Given the description of an element on the screen output the (x, y) to click on. 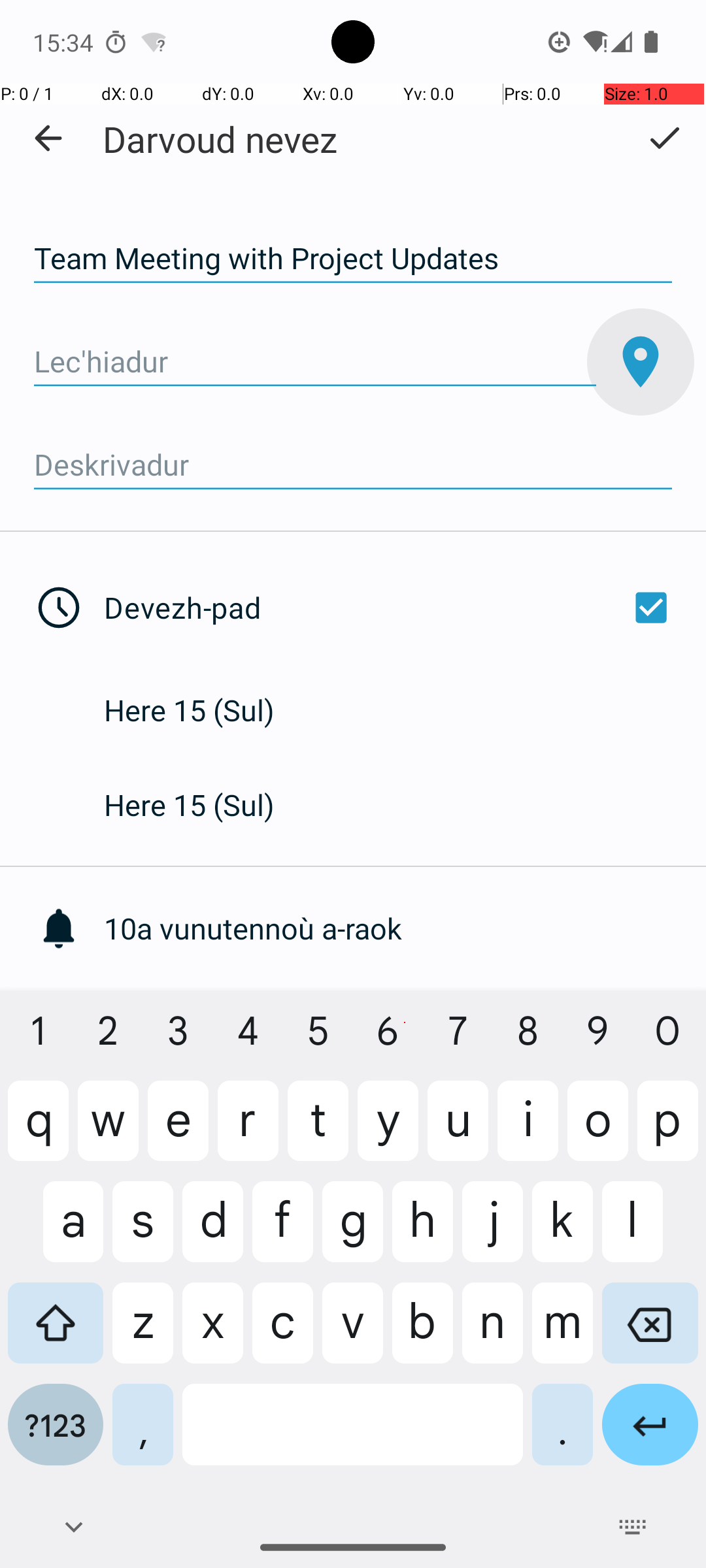
Darvoud nevez Element type: android.widget.TextView (219, 138)
Team Meeting with Project Updates Element type: android.widget.EditText (352, 258)
Lec'hiadur Element type: android.widget.EditText (314, 361)
Deskrivadur Element type: android.widget.EditText (352, 465)
Here 15 (Sul) Element type: android.widget.TextView (202, 709)
10a vunutennoù a-raok Element type: android.widget.TextView (404, 927)
Ouzhpennañ un adc'halv all Element type: android.widget.TextView (404, 1022)
Devezh-pad Element type: android.widget.CheckBox (390, 607)
